Given the description of an element on the screen output the (x, y) to click on. 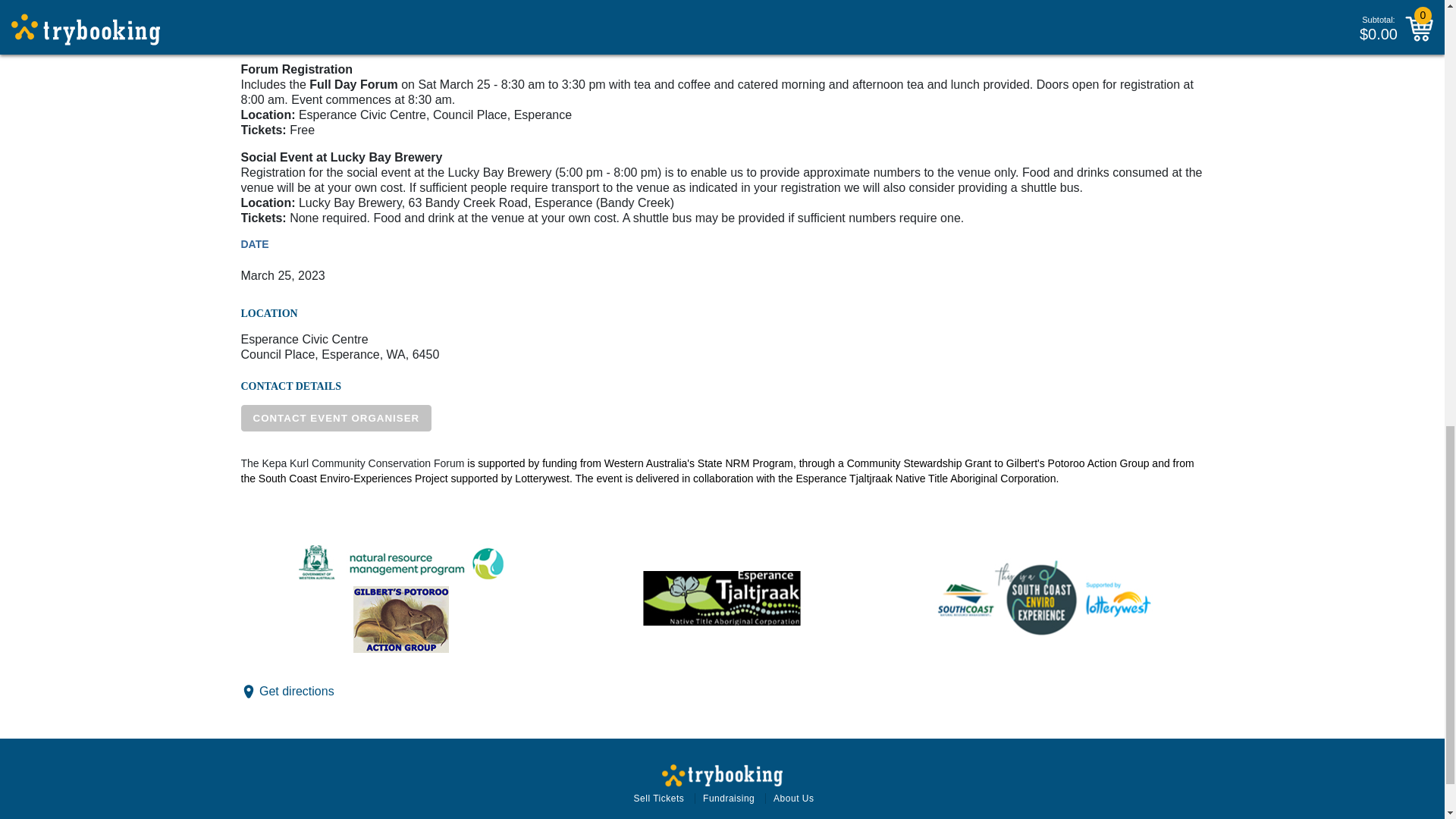
Sell Tickets (658, 798)
Fundraising (728, 798)
Get directions (296, 690)
About Us (793, 798)
CONTACT EVENT ORGANISER (336, 417)
